Given the description of an element on the screen output the (x, y) to click on. 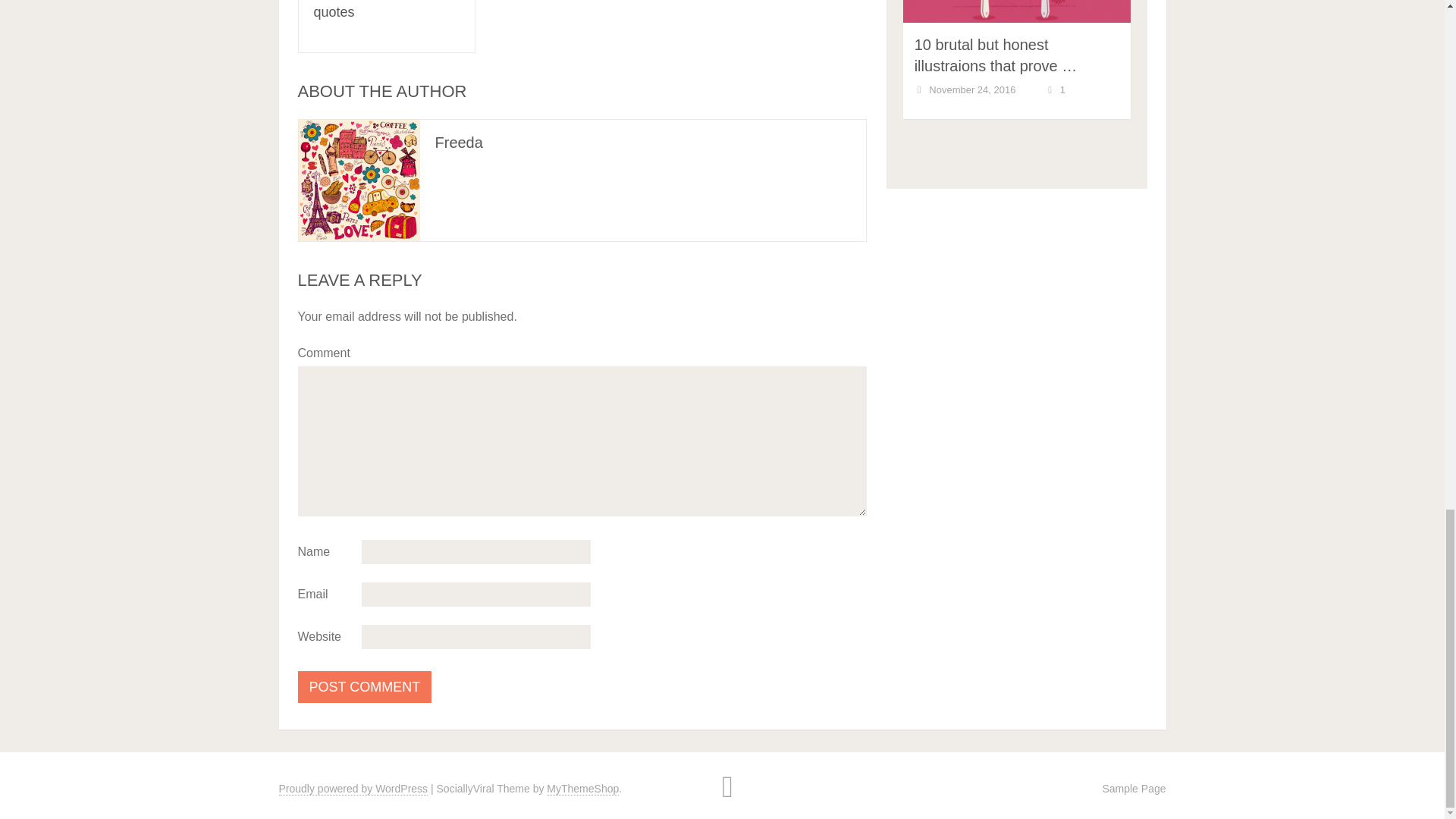
Freeda (459, 142)
Post Comment (363, 686)
Post Comment (363, 686)
30 Best Al Pacino quotes (367, 9)
